Given the description of an element on the screen output the (x, y) to click on. 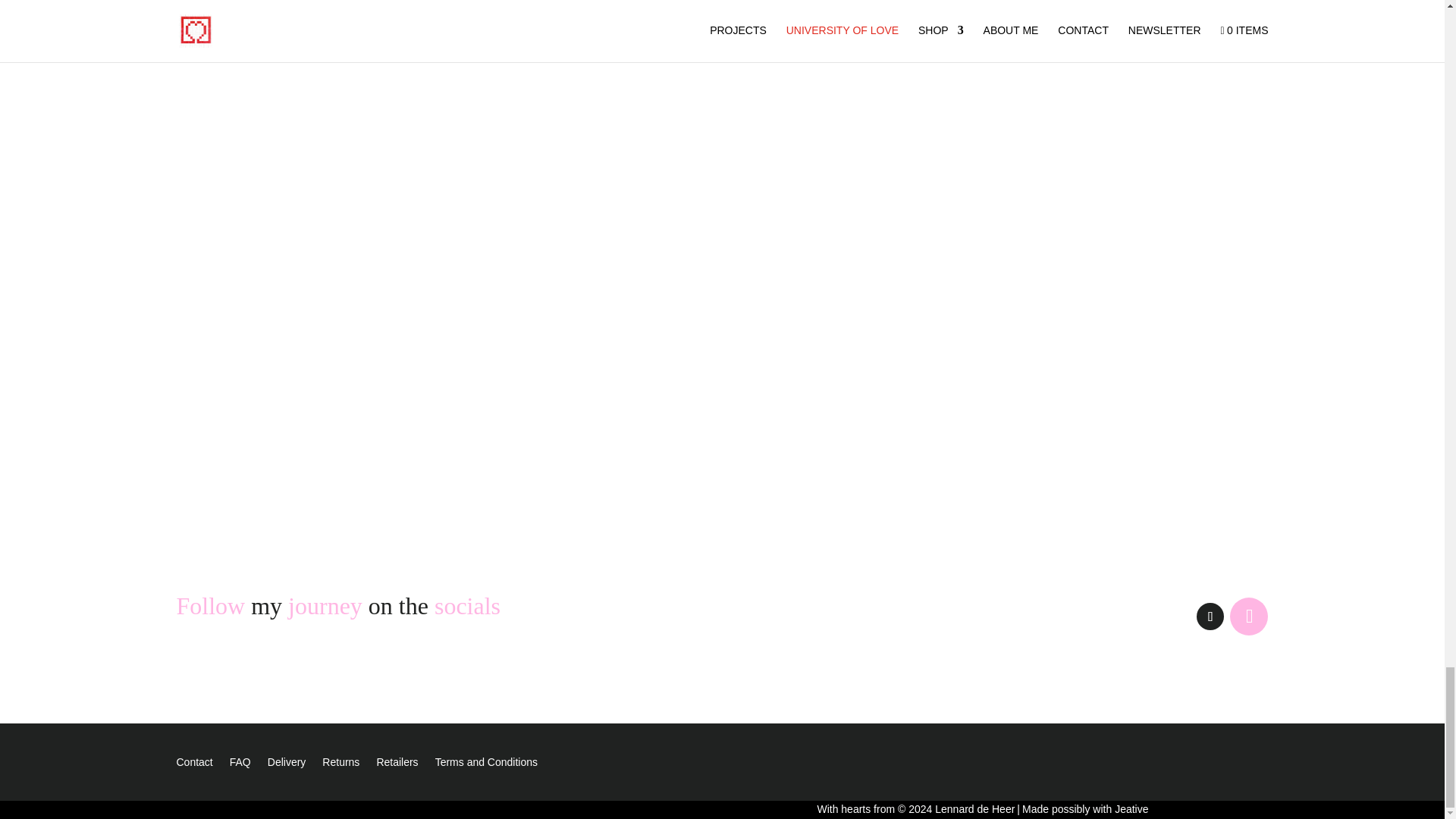
Retailers (396, 764)
Contact (194, 764)
Returns (340, 764)
Follow on LinkedIn (1210, 615)
Follow on Instagram (1249, 616)
Delivery (286, 764)
Terms and Conditions (486, 764)
FAQ (240, 764)
